Given the description of an element on the screen output the (x, y) to click on. 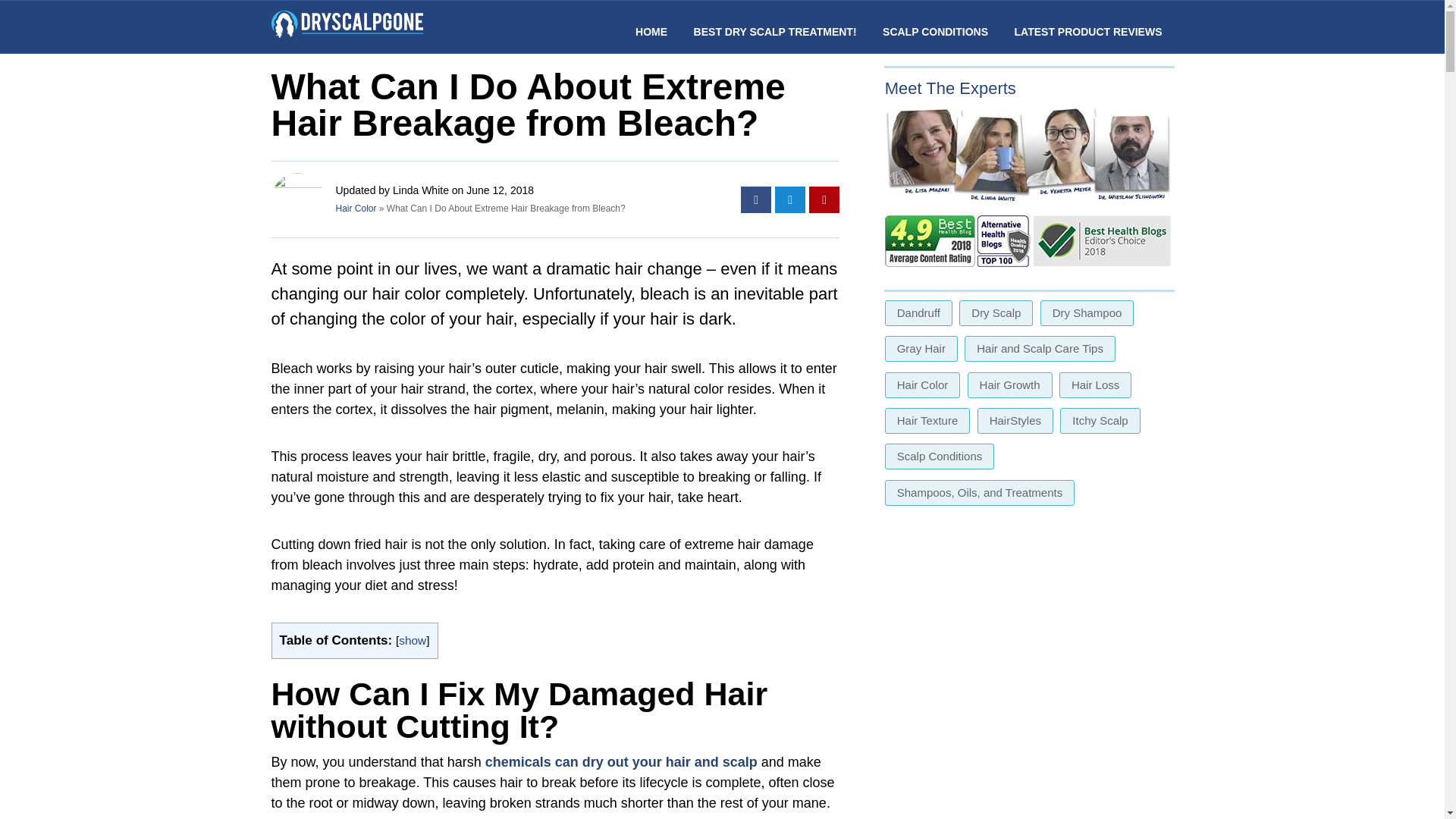
Hair Color (922, 385)
show (412, 640)
Hair and Scalp Care Tips (1039, 348)
Dry Scalp (995, 312)
BEST DRY SCALP TREATMENT! (775, 31)
chemicals can dry out your hair and scalp (620, 761)
Hair Color (354, 208)
Shampoos, Oils, and Treatments (979, 492)
Gray Hair (921, 348)
Dry Shampoo (1087, 312)
HairStyles (1014, 420)
Itchy Scalp (1099, 420)
Scalp Conditions (939, 456)
LATEST PRODUCT REVIEWS (1087, 31)
Hair Loss (1095, 385)
